Given the description of an element on the screen output the (x, y) to click on. 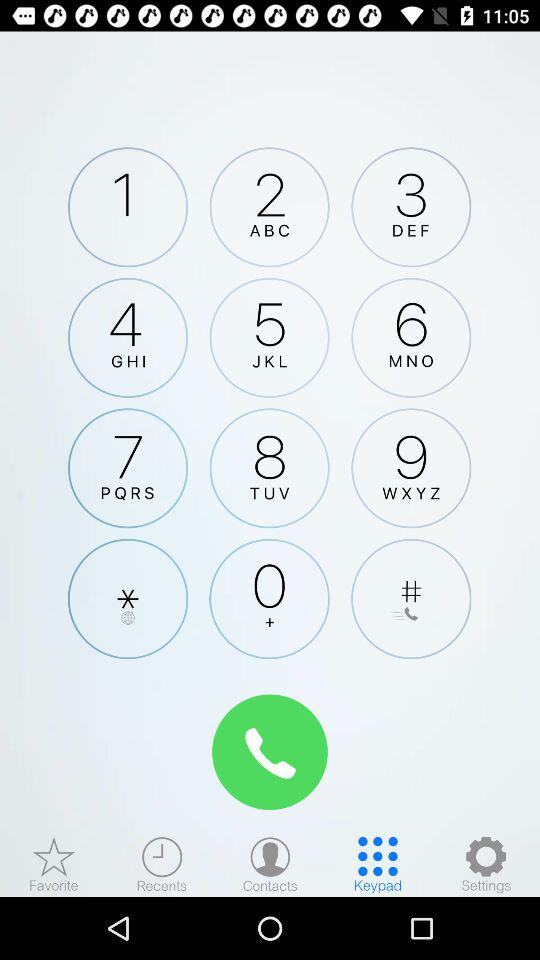
button (411, 598)
